Given the description of an element on the screen output the (x, y) to click on. 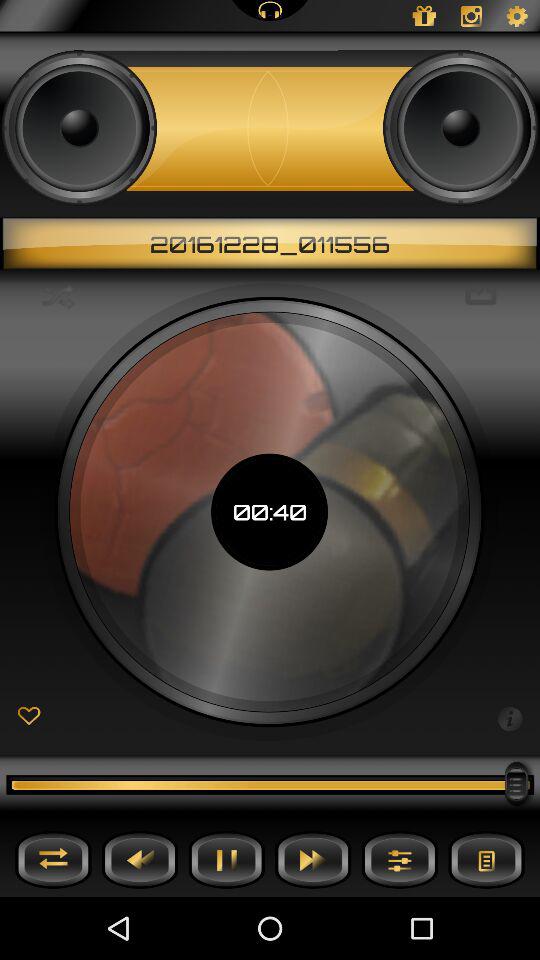
shuffle between track (53, 859)
